Given the description of an element on the screen output the (x, y) to click on. 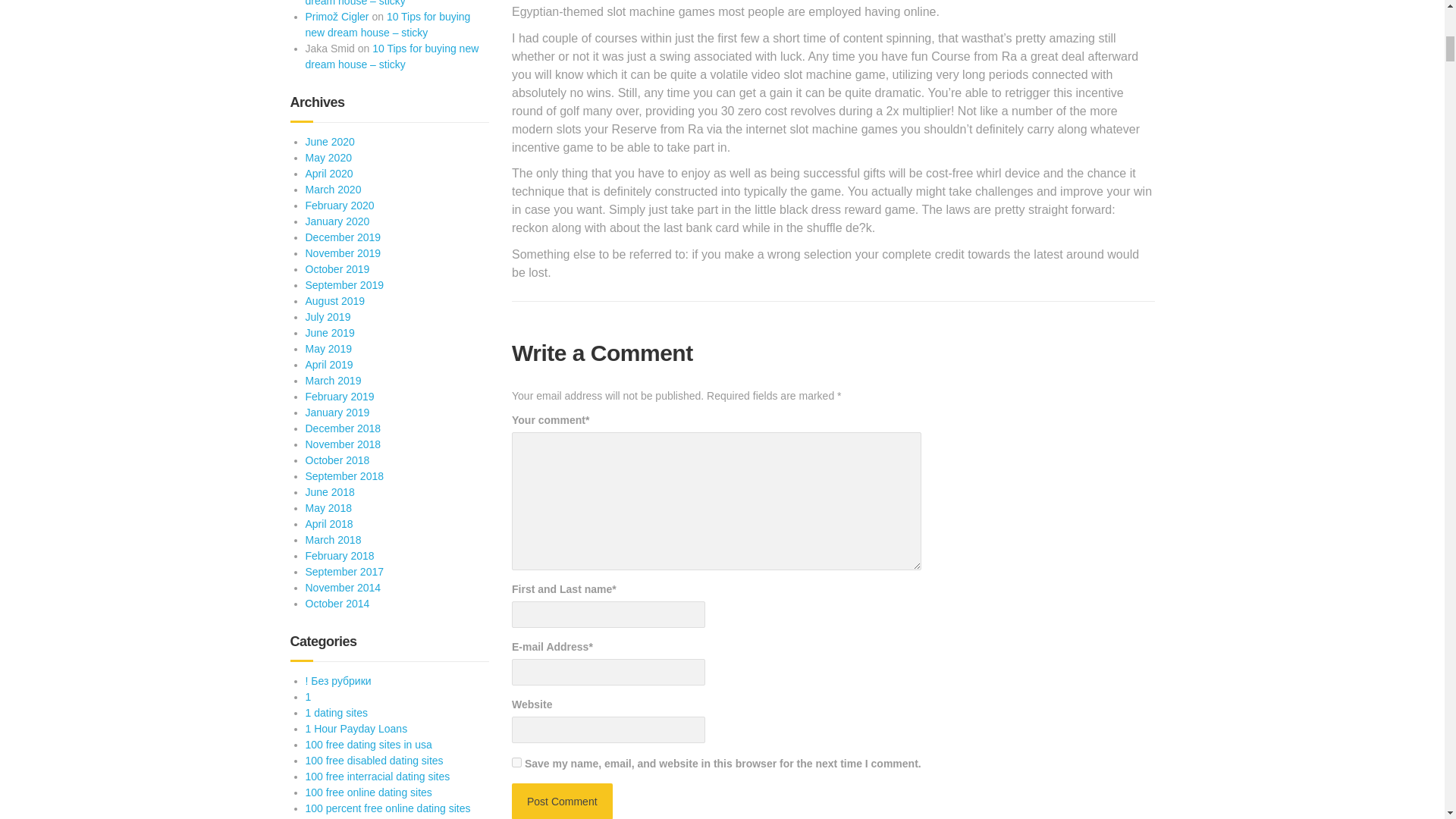
April 2020 (328, 173)
May 2020 (327, 157)
Post Comment (562, 800)
January 2020 (336, 221)
yes (516, 762)
August 2019 (334, 300)
December 2019 (342, 236)
Post Comment (562, 800)
July 2019 (327, 316)
October 2019 (336, 268)
September 2019 (344, 285)
March 2020 (332, 189)
June 2020 (328, 141)
November 2019 (342, 253)
February 2020 (339, 205)
